Given the description of an element on the screen output the (x, y) to click on. 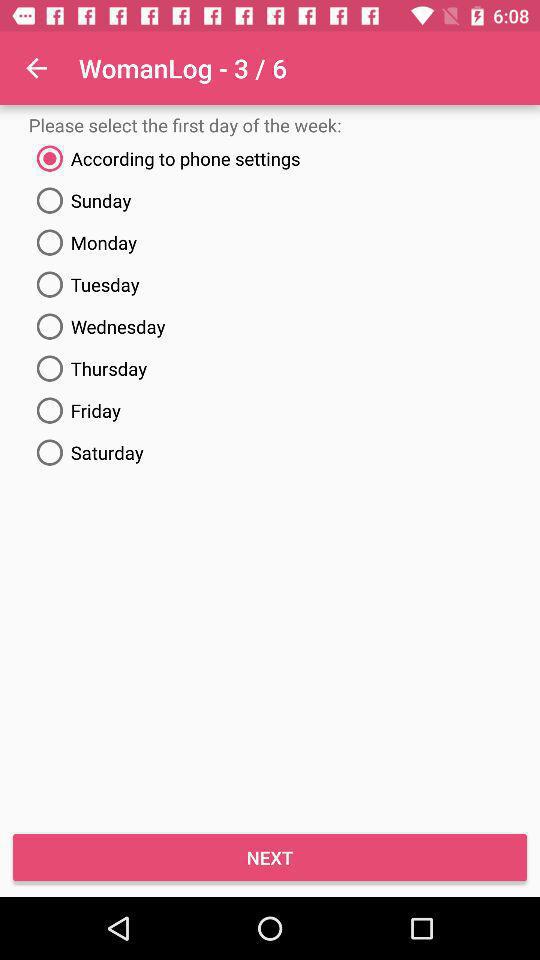
turn off the wednesday icon (269, 326)
